Given the description of an element on the screen output the (x, y) to click on. 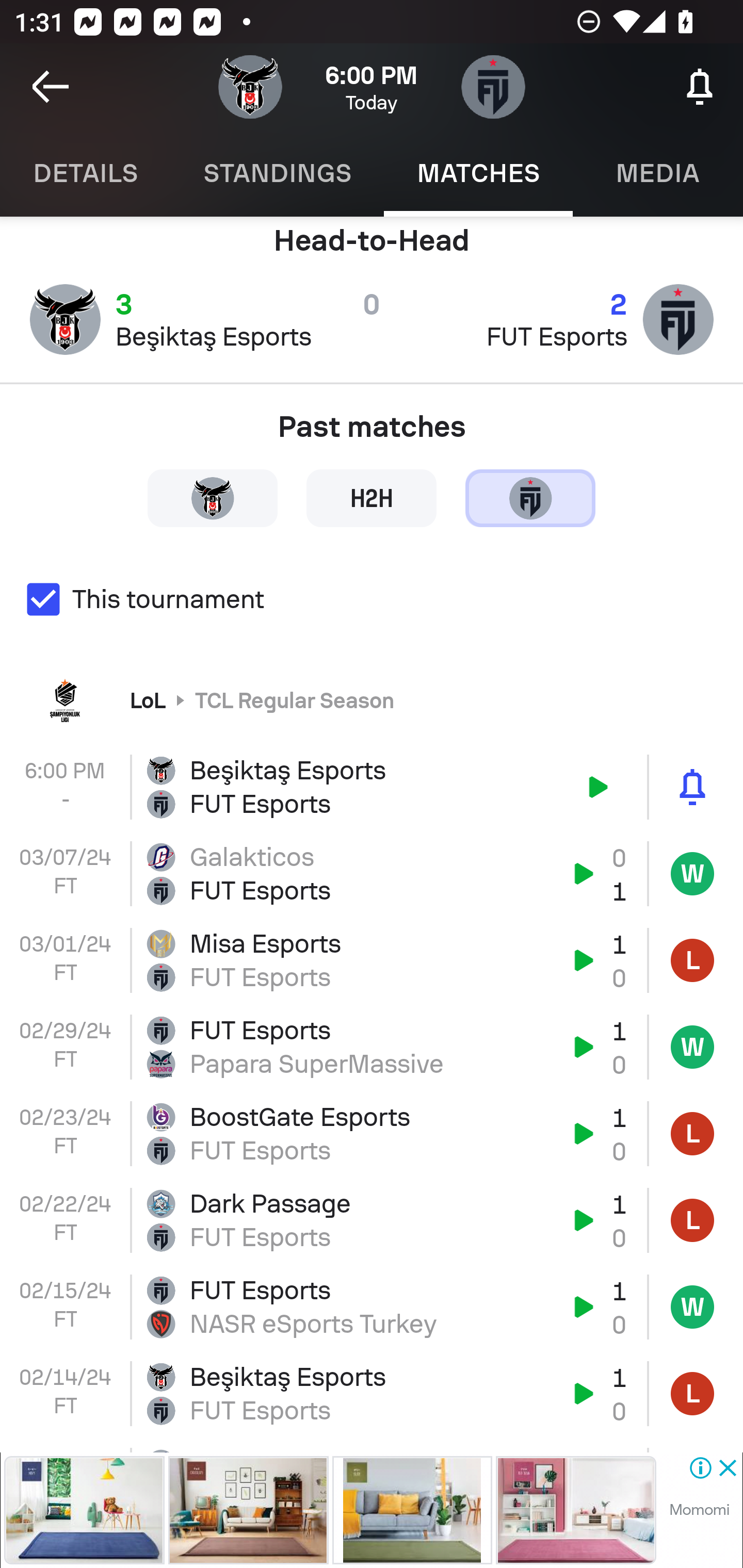
Navigate up (50, 86)
Details DETAILS (85, 173)
Standings STANDINGS (277, 173)
Media MEDIA (657, 173)
H2H (371, 497)
This tournament (371, 599)
LoL TCL Regular Season (371, 699)
6:00 PM - Beşiktaş Esports FUT Esports (371, 787)
03/07/24 FT Galakticos FUT Esports 0 1 W (371, 874)
03/01/24 FT Misa Esports FUT Esports 1 0 L (371, 960)
02/29/24 FT FUT Esports Papara SuperMassive 1 0 W (371, 1046)
02/23/24 FT BoostGate Esports FUT Esports 1 0 L (371, 1133)
02/22/24 FT Dark Passage FUT Esports 1 0 L (371, 1220)
02/15/24 FT FUT Esports NASR eSports Turkey 1 0 W (371, 1306)
02/14/24 FT Beşiktaş Esports FUT Esports 1 0 L (371, 1393)
Momomi (699, 1509)
